Given the description of an element on the screen output the (x, y) to click on. 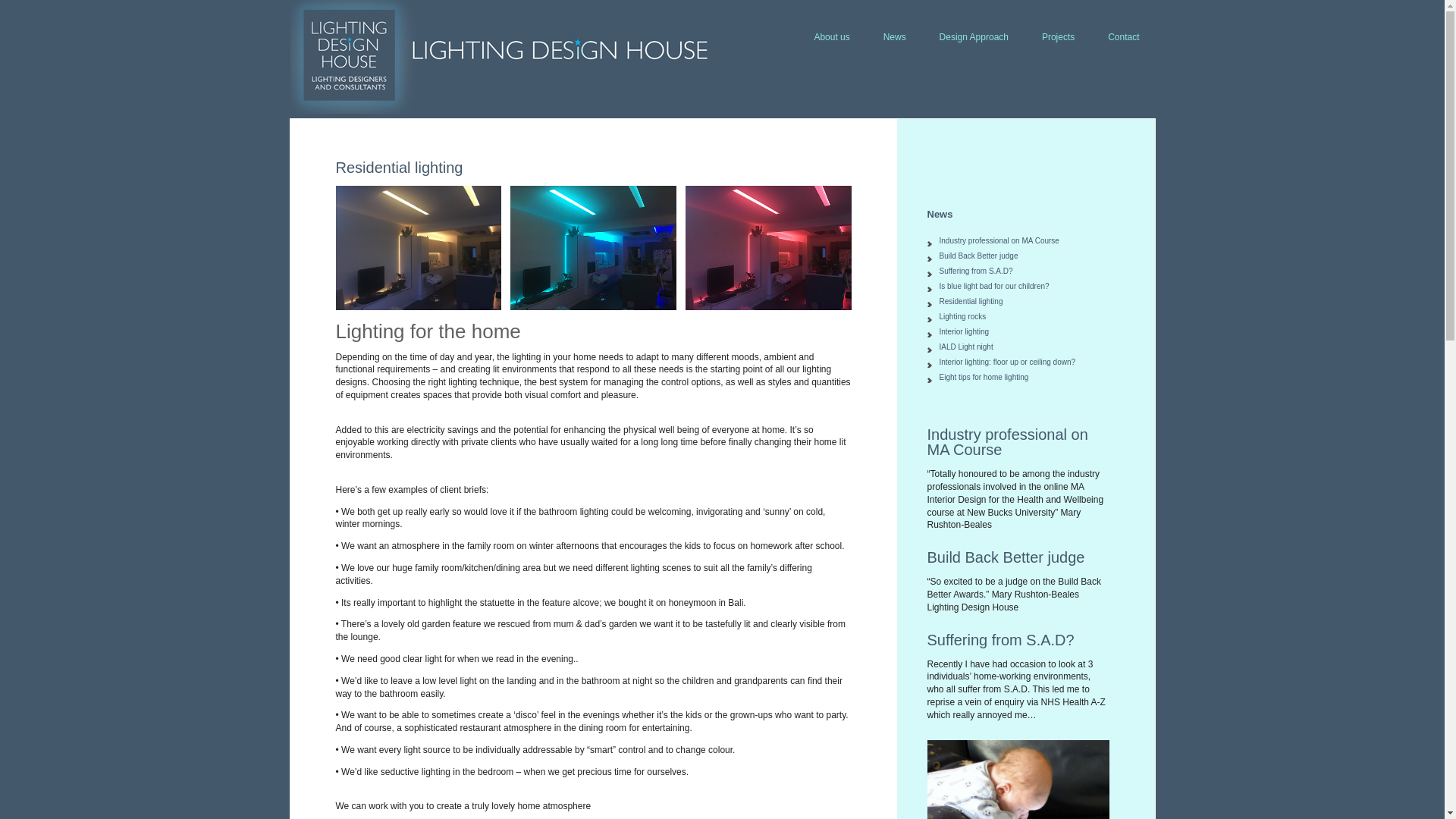
Is blue light bad for our children? (993, 285)
Interior lighting: floor up or ceiling down? (1007, 361)
Suffering from S.A.D? (1000, 639)
Industry professional on MA Course (998, 240)
Lighting rocks (962, 316)
Design Approach (973, 37)
Industry professional on MA Course (1006, 441)
Suffering from S.A.D? (975, 270)
IALD Light night (965, 347)
Interior lighting (963, 331)
